Given the description of an element on the screen output the (x, y) to click on. 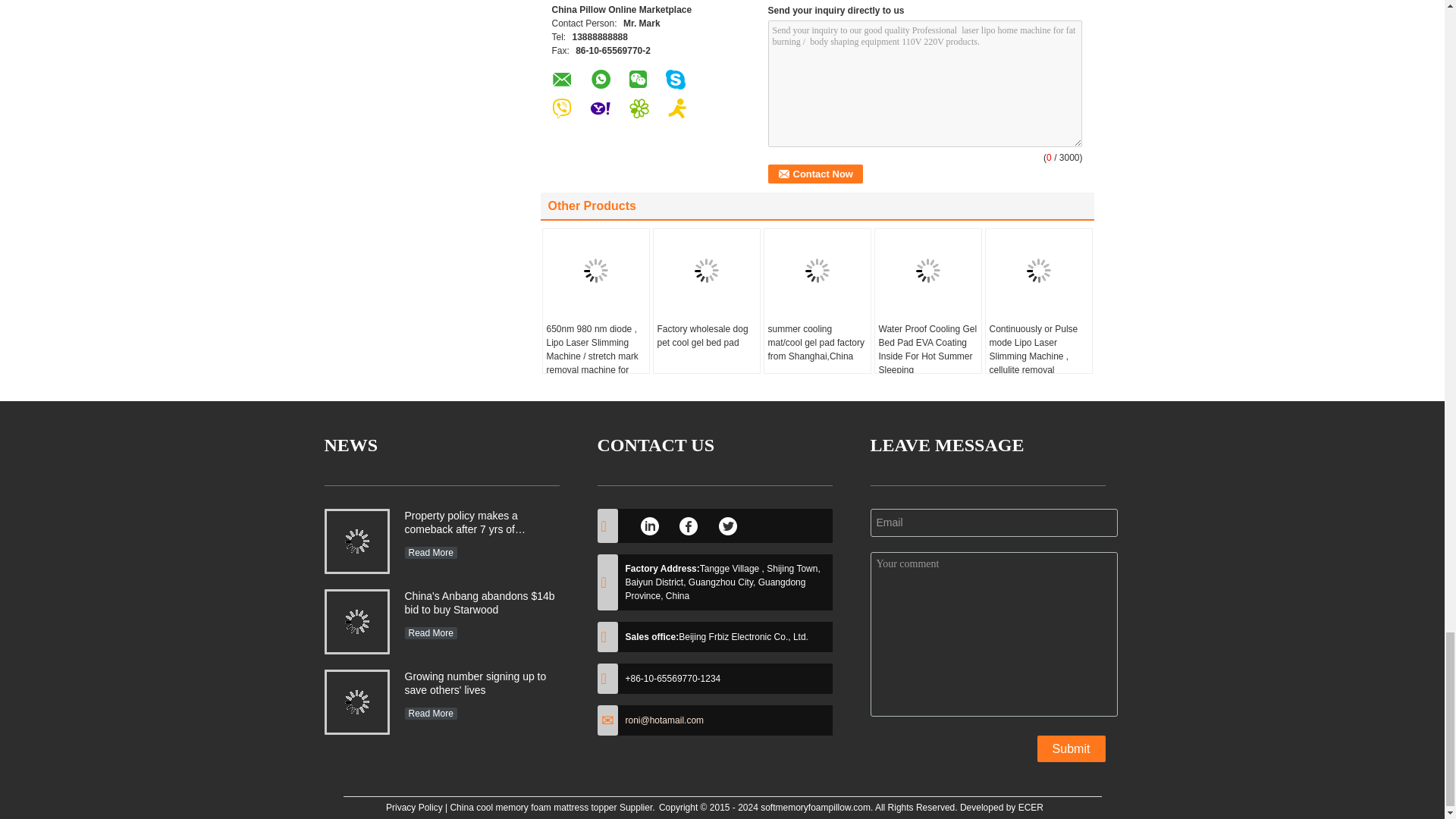
Submit (1070, 748)
Contact Now (814, 173)
